Given the description of an element on the screen output the (x, y) to click on. 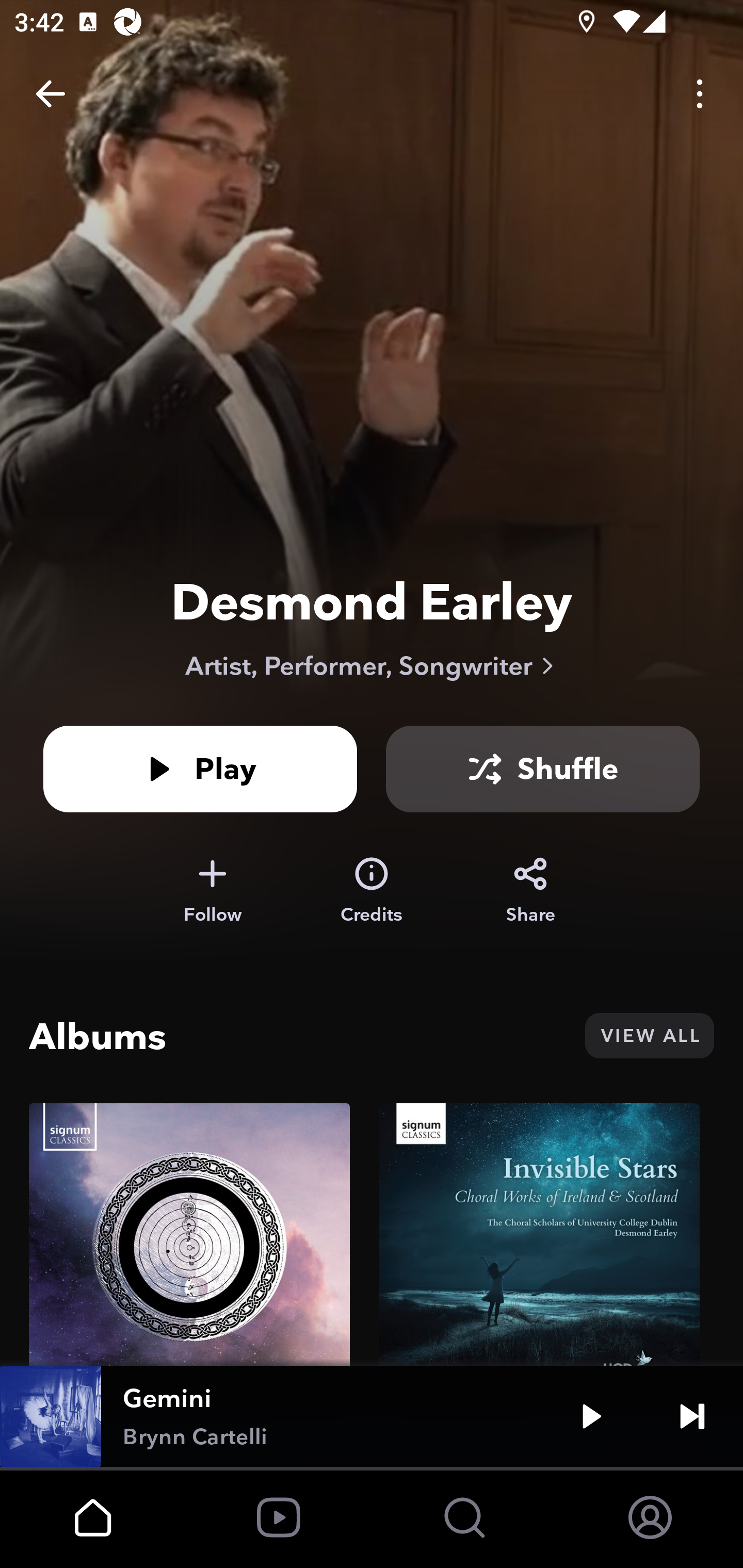
Options (699, 93)
Artist, Performer, Songwriter (371, 665)
Play (200, 768)
Shuffle (542, 768)
Follow (211, 890)
Credits (371, 890)
Share (530, 890)
VIEW ALL (649, 1035)
Gemini Brynn Cartelli Play (371, 1416)
Play (590, 1416)
